Given the description of an element on the screen output the (x, y) to click on. 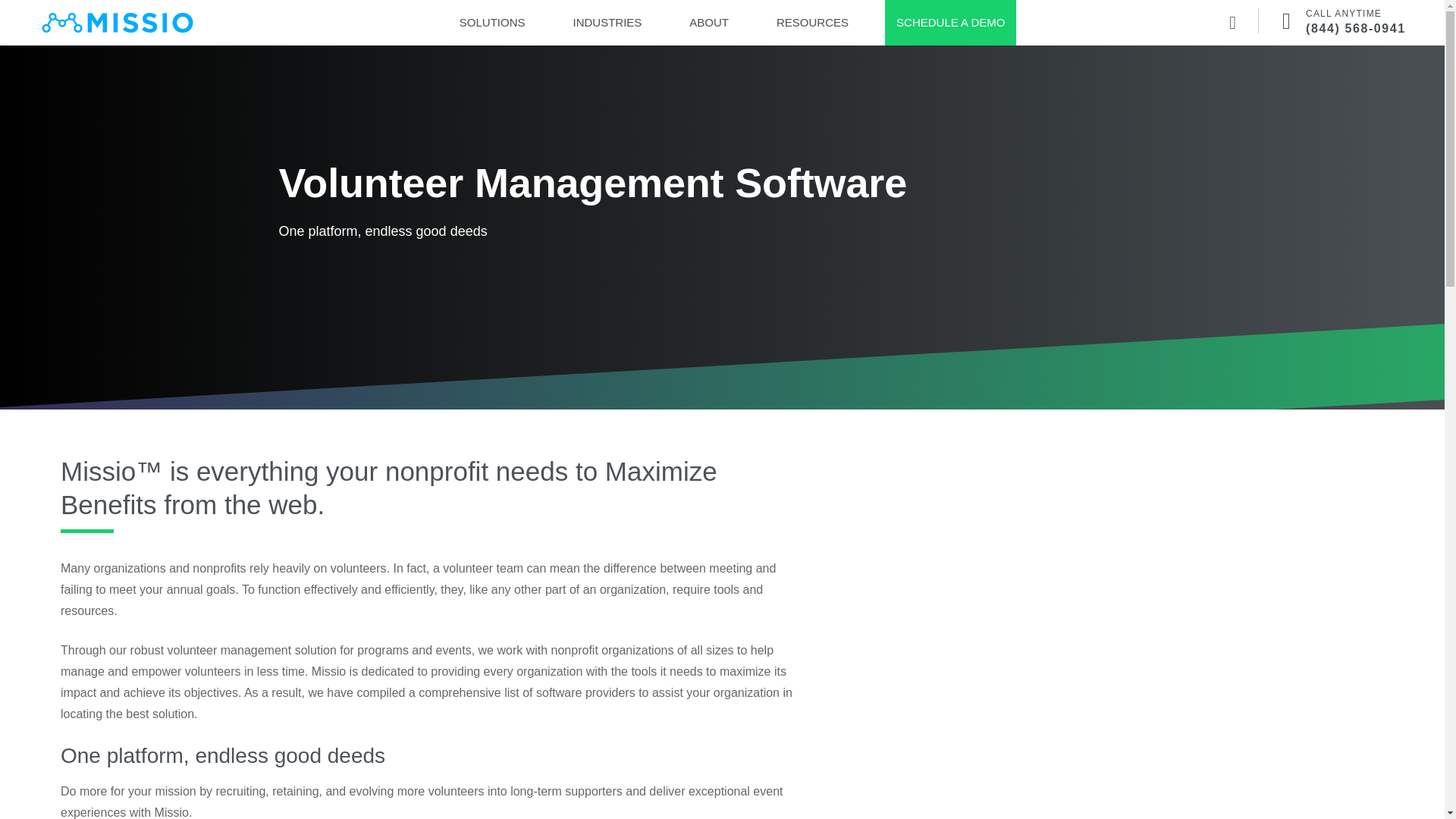
INDUSTRIES (607, 22)
RESOURCES (812, 22)
SOLUTIONS (492, 22)
ABOUT (708, 22)
SCHEDULE A DEMO (950, 22)
